Given the description of an element on the screen output the (x, y) to click on. 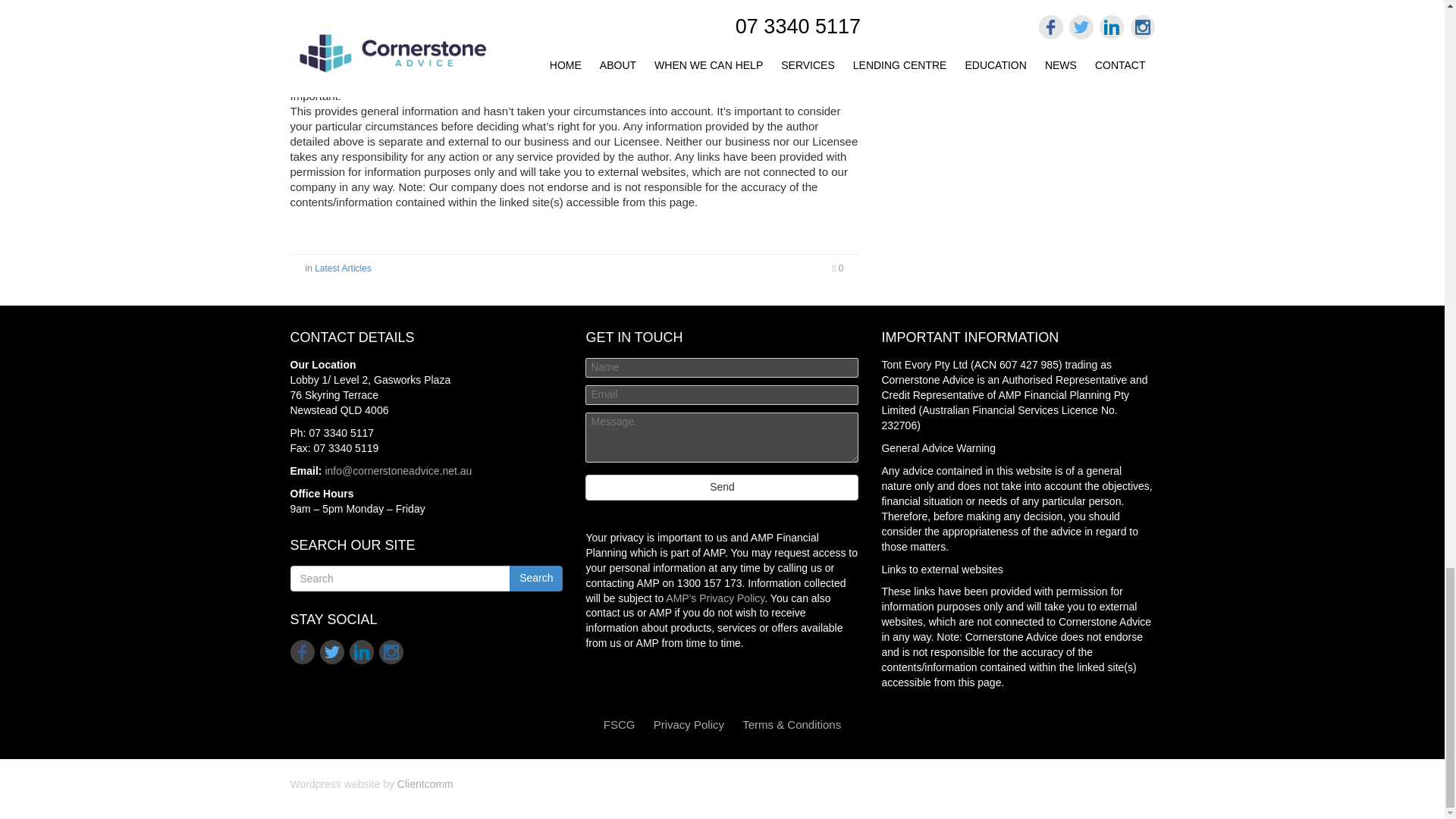
0 (837, 267)
Latest Articles (342, 267)
Send (722, 487)
